Given the description of an element on the screen output the (x, y) to click on. 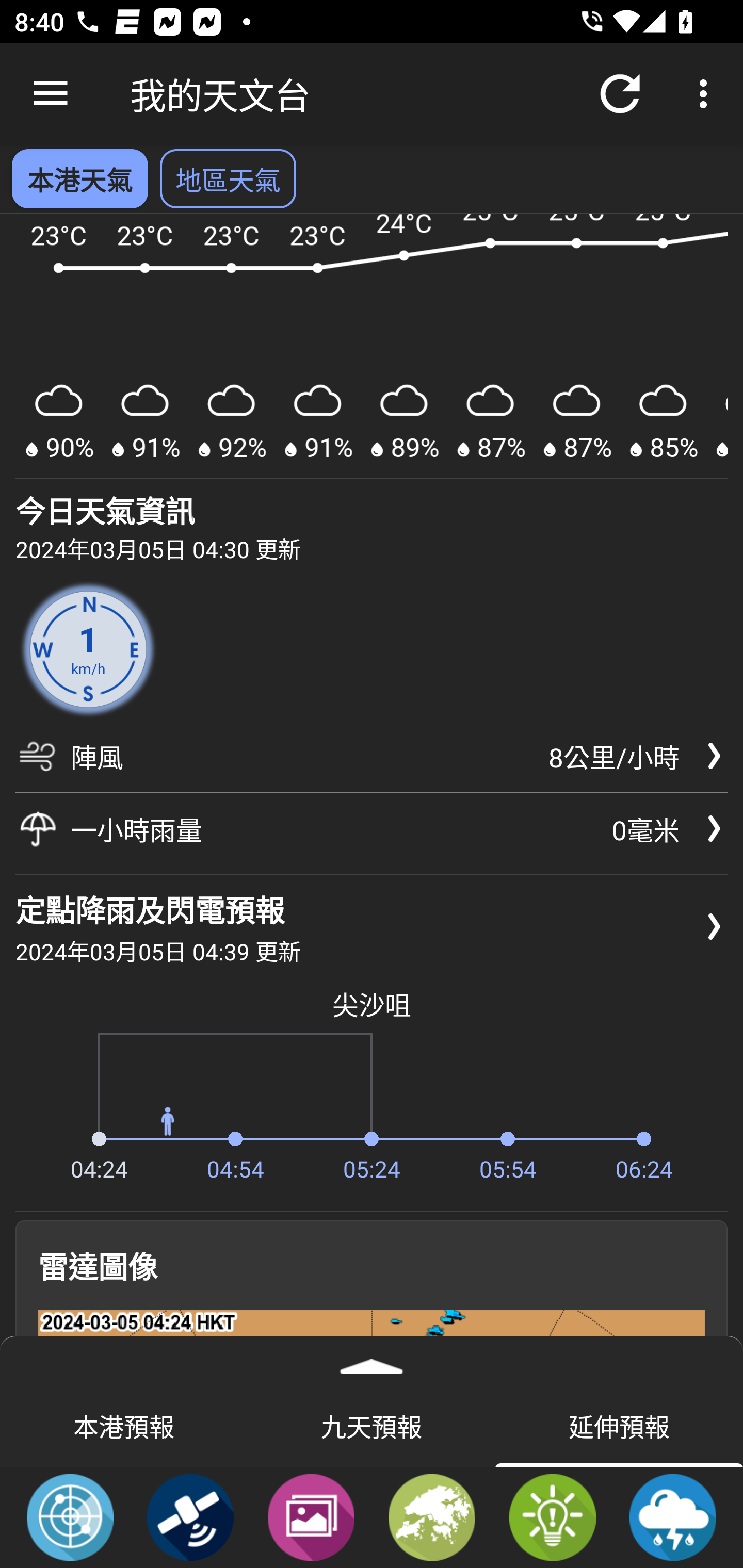
向上瀏覽 (50, 93)
重新整理 (619, 93)
更多選項 (706, 93)
本港天氣 已選擇 本港天氣 (79, 178)
地區天氣 選擇 地區天氣 (227, 178)
九天自動天氣預報 圖片
輕按進入內頁，即可了解詳細資料。 ARWF (371, 346)
風向不定
風速每小時1公里 1 km/h (88, 649)
陣風 8公里/小時 陣風 8公里/小時 (371, 763)
一小時雨量 0毫米 一小時雨量 0毫米 (371, 828)
展開 (371, 1358)
本港預報 (123, 1424)
九天預報 (371, 1424)
雷達圖像 (69, 1516)
衛星圖像 (190, 1516)
天氣照片 (310, 1516)
分區天氣 (431, 1516)
天氣提示 (551, 1516)
定點降雨及閃電預報 (672, 1516)
